Given the description of an element on the screen output the (x, y) to click on. 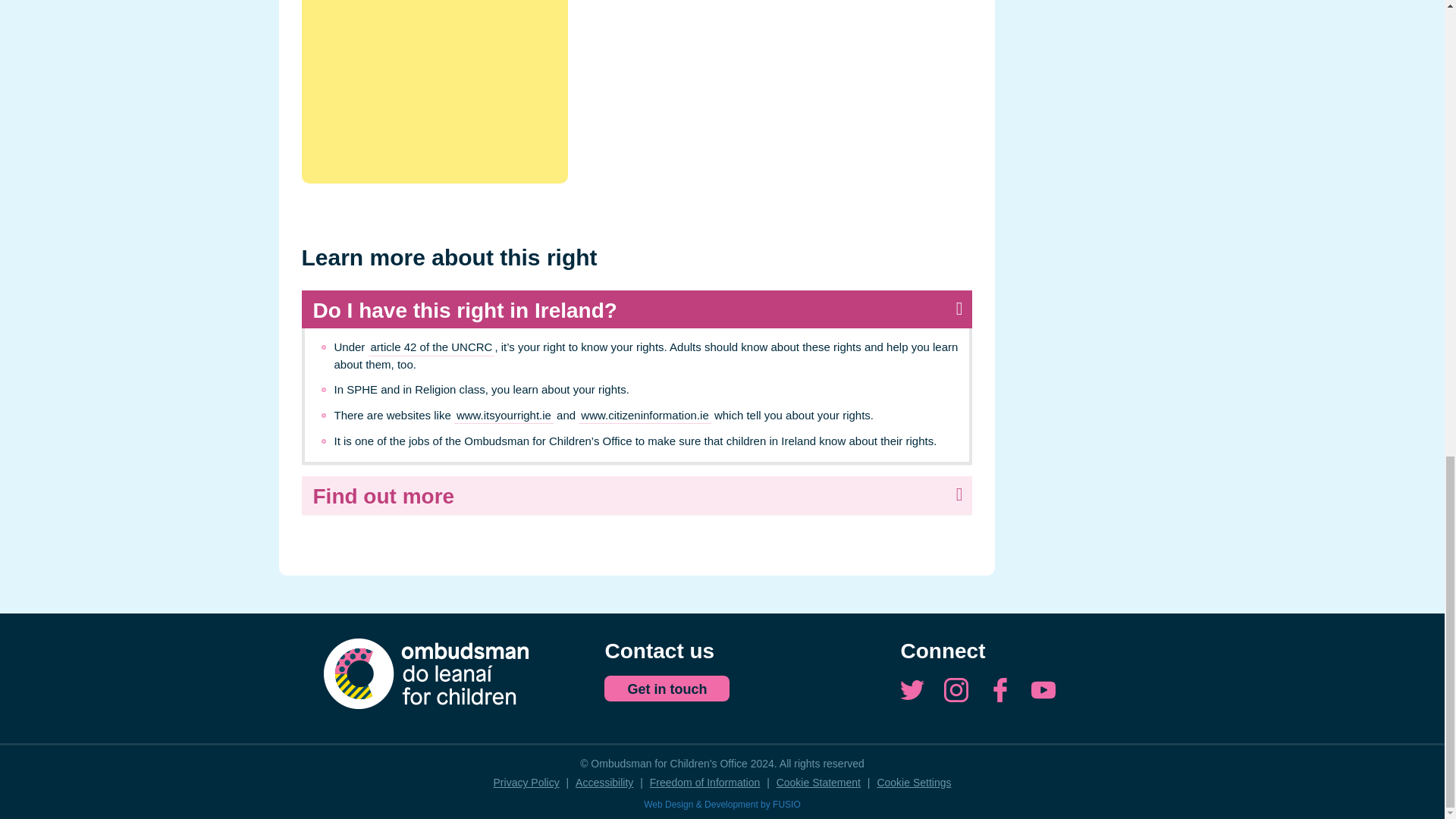
Find out more (636, 495)
Do I have this right in Ireland? (636, 309)
www.itsyourright.ie (503, 415)
article 42 of the UNCRC (431, 347)
www.citizeninformation.ie (644, 415)
